Given the description of an element on the screen output the (x, y) to click on. 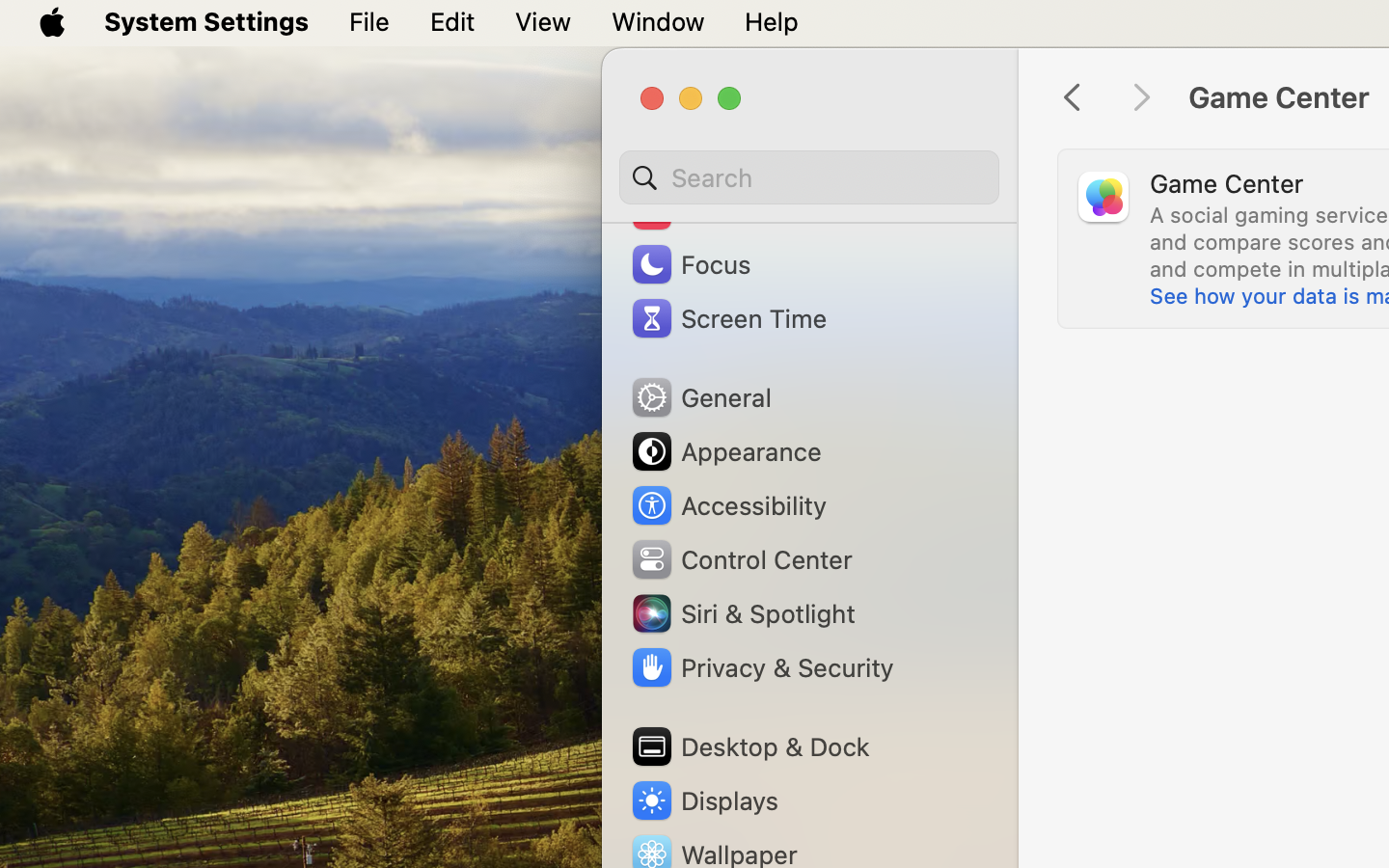
Game Center Element type: AXStaticText (1226, 182)
Sound Element type: AXStaticText (692, 210)
